Given the description of an element on the screen output the (x, y) to click on. 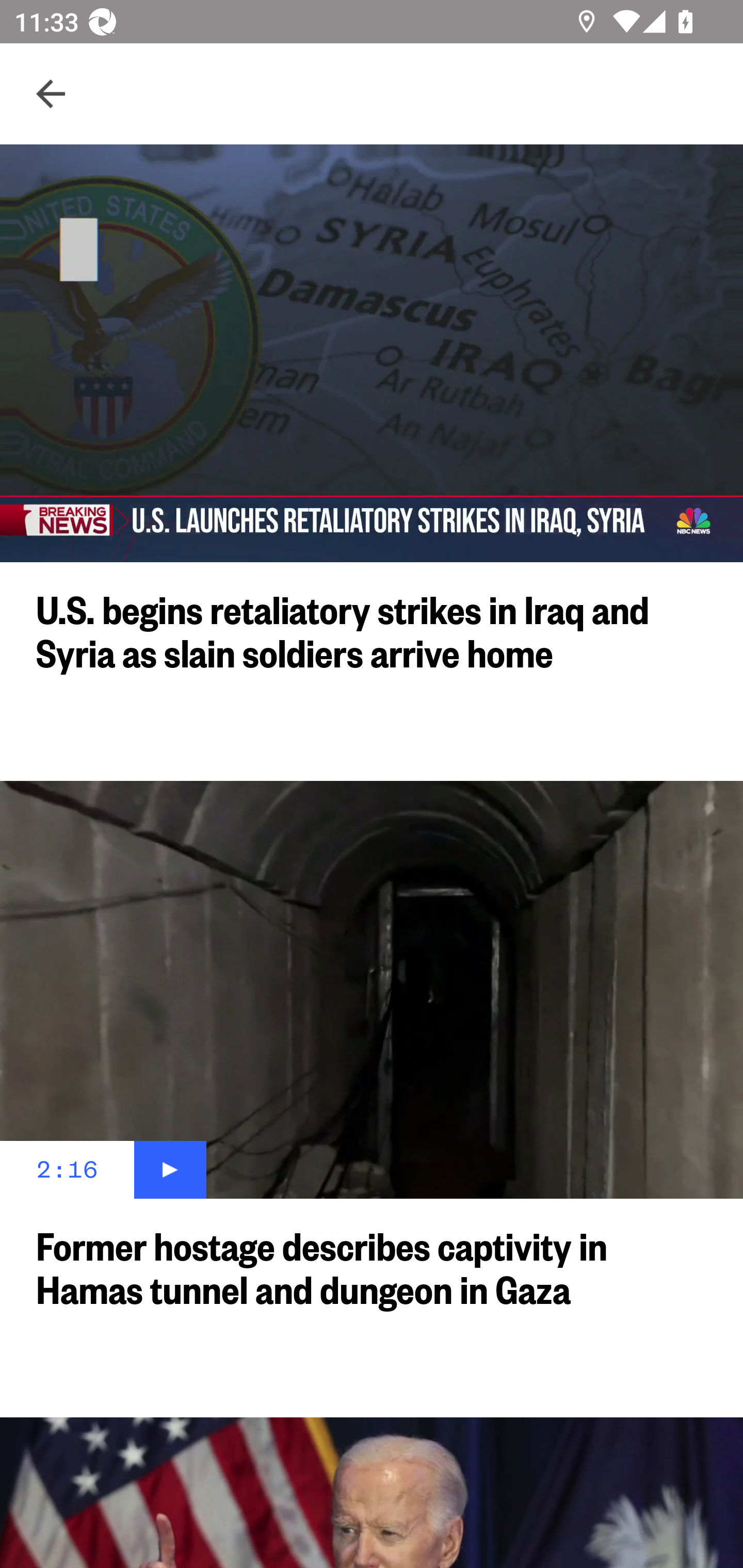
Navigate up (50, 93)
